Given the description of an element on the screen output the (x, y) to click on. 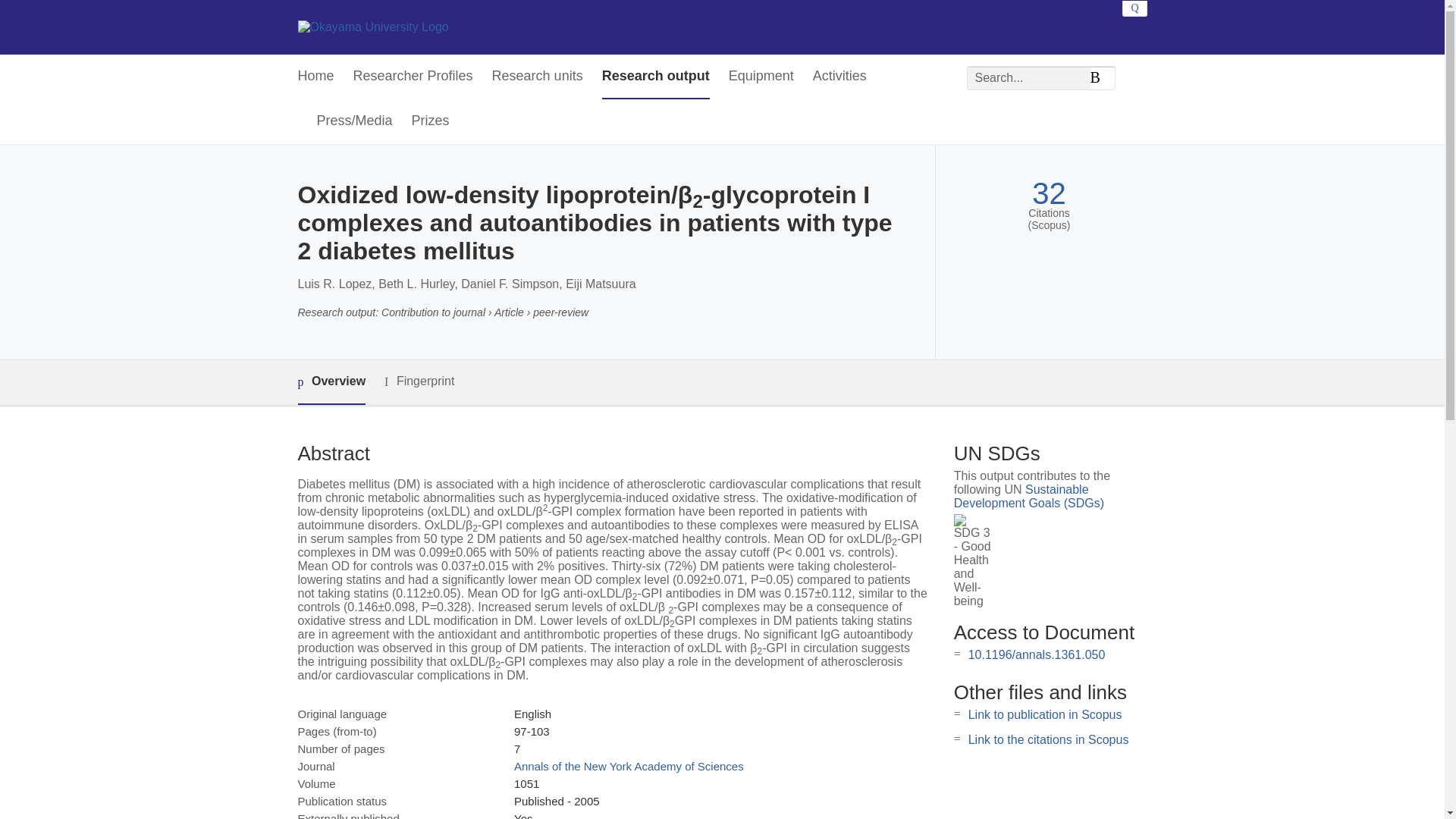
Link to the citations in Scopus (1048, 739)
Researcher Profiles (413, 76)
Research output (656, 76)
32 (1048, 193)
Equipment (761, 76)
Fingerprint (419, 381)
Overview (331, 382)
Research units (537, 76)
Annals of the New York Academy of Sciences (628, 766)
Activities (839, 76)
